Given the description of an element on the screen output the (x, y) to click on. 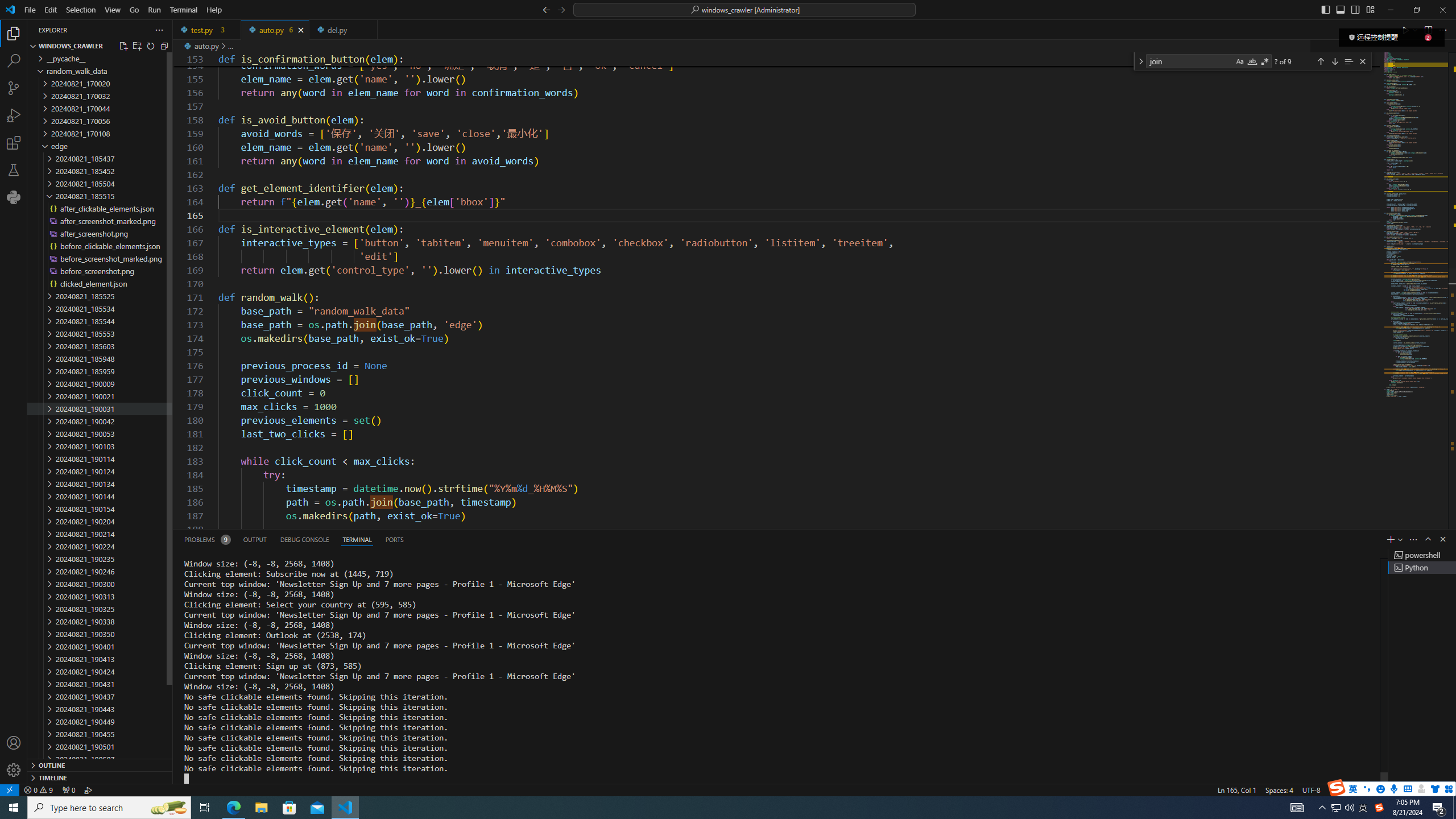
Tab actions (369, 29)
Run Python File (1405, 29)
Extensions (Ctrl+Shift+X) (13, 142)
Title actions (1347, 9)
Hide Panel (1442, 539)
Python (13, 197)
windows_crawler actions (144, 45)
Run (153, 9)
CRLF (1336, 789)
Ports actions (917, 539)
